Given the description of an element on the screen output the (x, y) to click on. 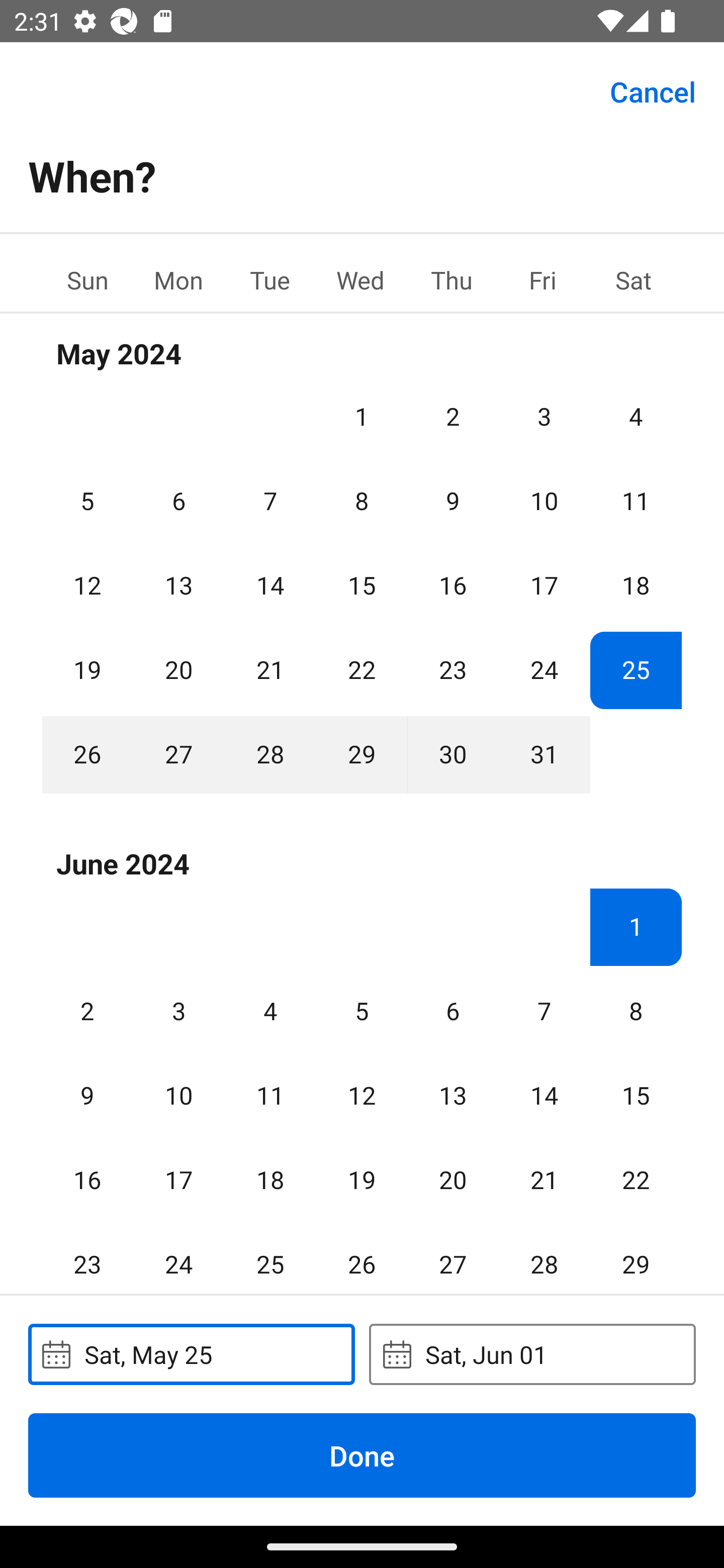
Cancel (652, 90)
Sat, May 25 (191, 1353)
Sat, Jun 01 (532, 1353)
Done (361, 1454)
